Given the description of an element on the screen output the (x, y) to click on. 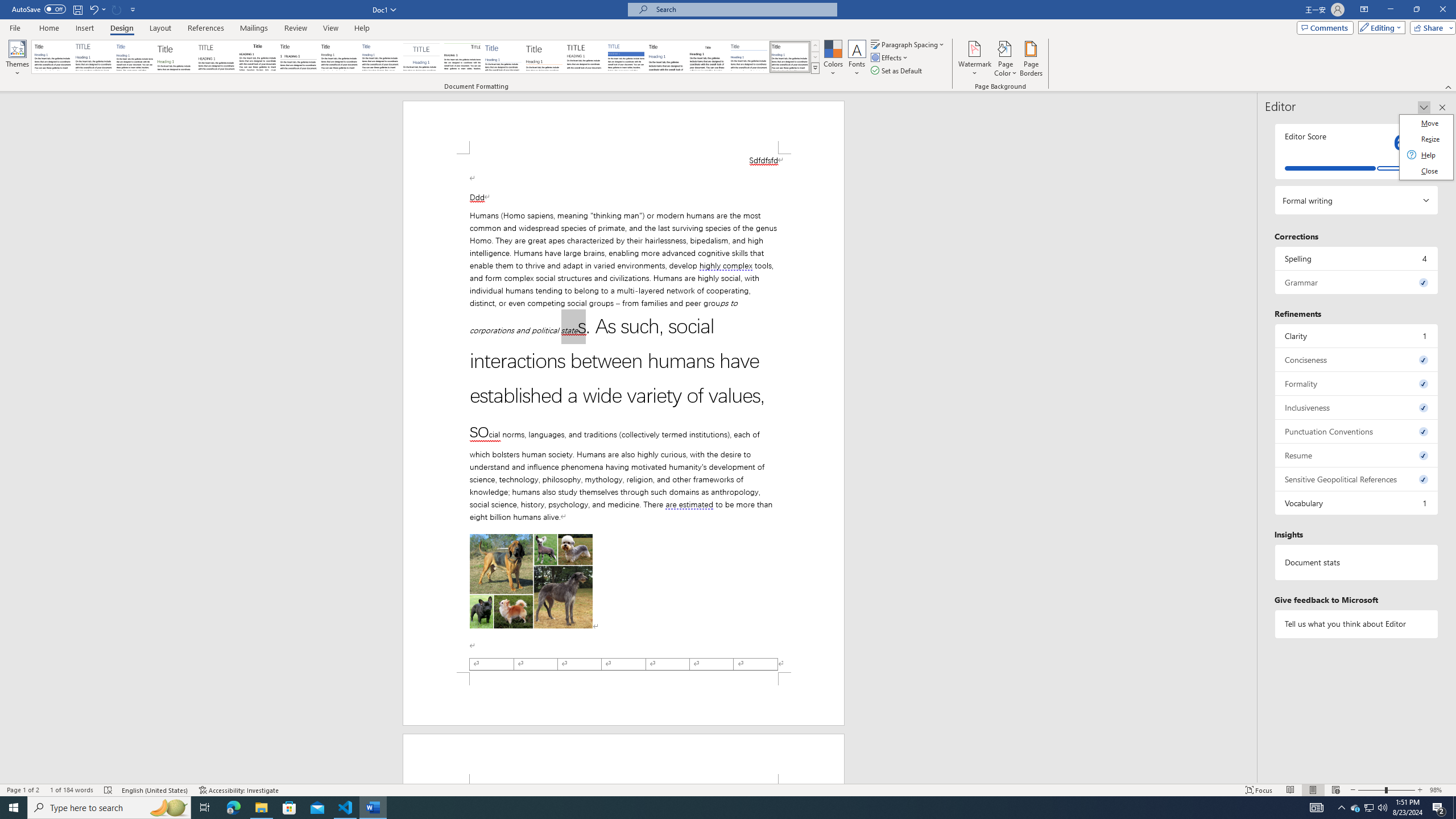
Word 2003 (707, 56)
Fonts (856, 58)
Page Color (1005, 58)
Style Set (814, 67)
Can't Repeat (117, 9)
Basic (Stylish) (175, 56)
